Given the description of an element on the screen output the (x, y) to click on. 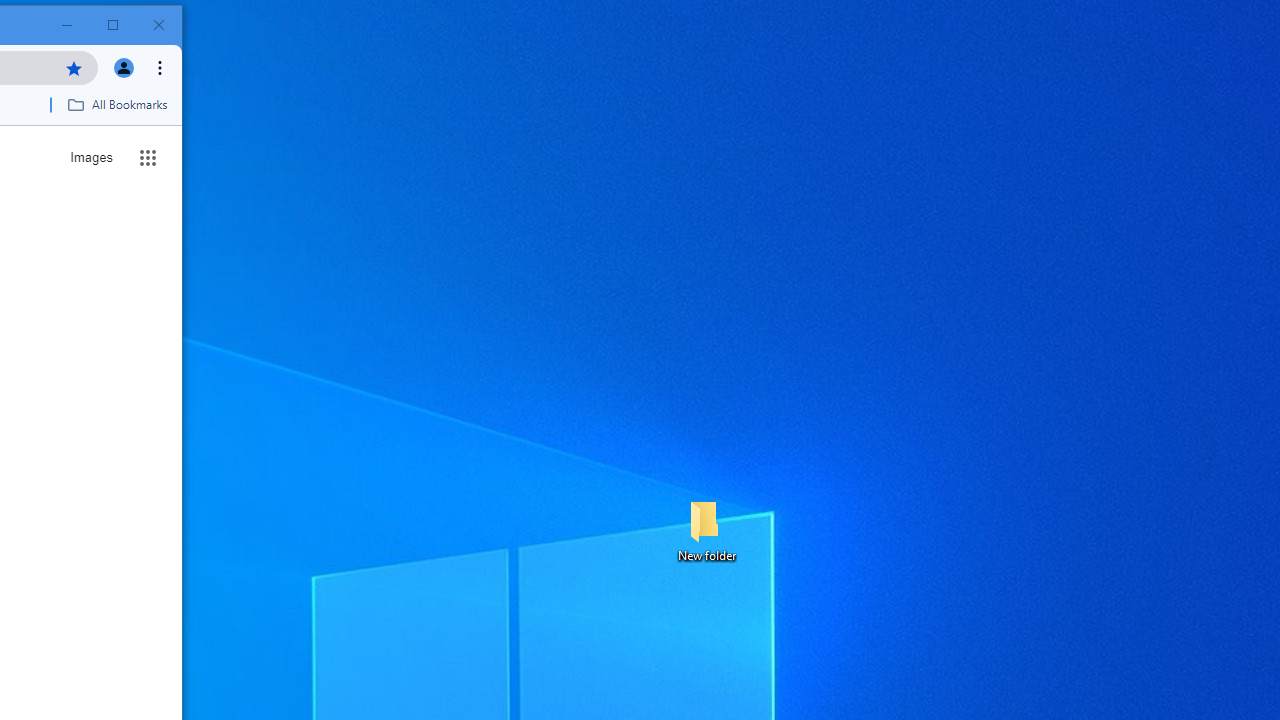
New folder (706, 530)
